Given the description of an element on the screen output the (x, y) to click on. 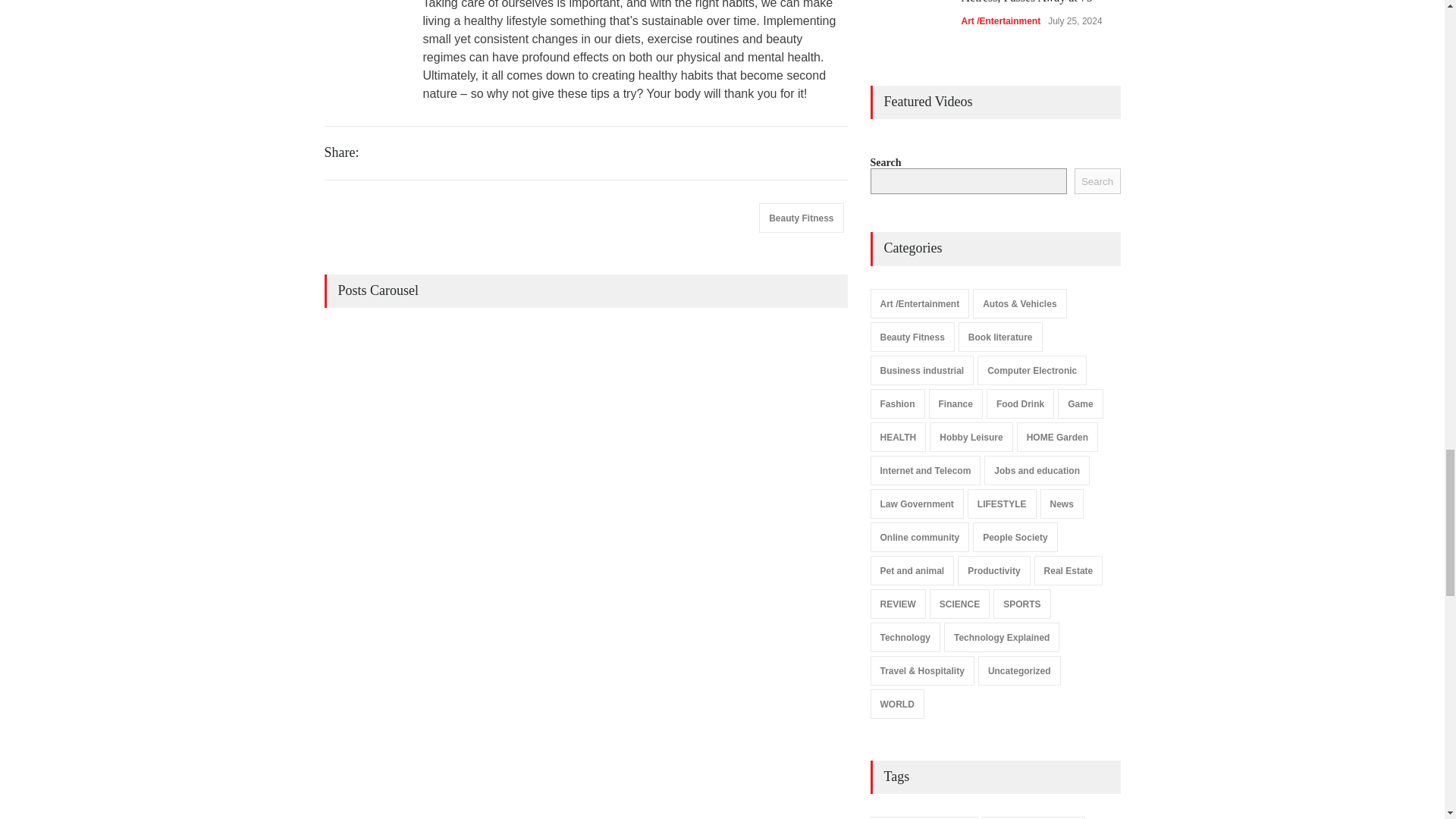
Beauty Fitness (800, 217)
